Given the description of an element on the screen output the (x, y) to click on. 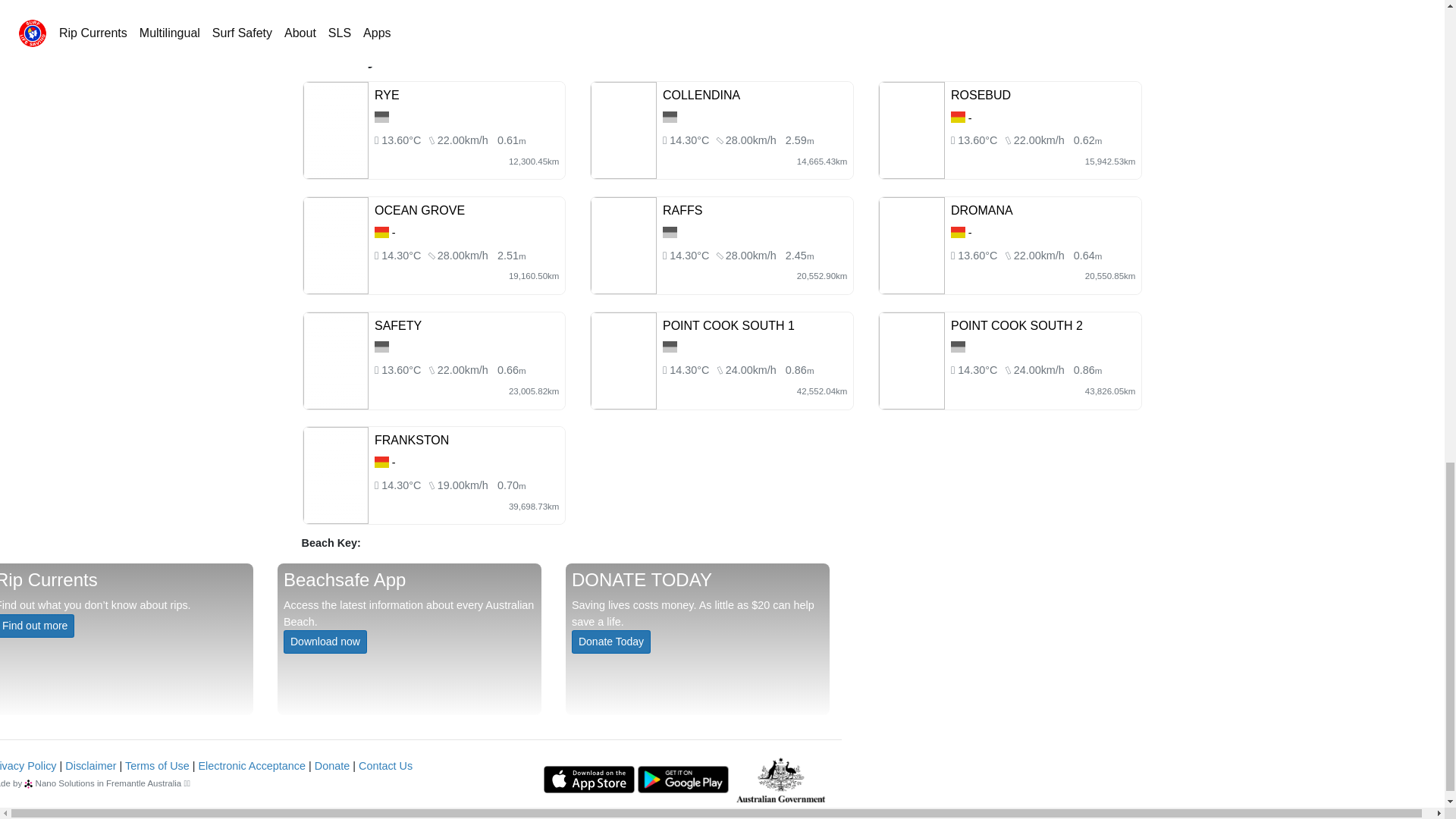
Swell (799, 140)
Swell (511, 140)
Sunny. (689, 255)
Sunny. (978, 140)
Wind Speed (462, 140)
Sunny. (401, 255)
Find out more (37, 626)
Sunny. (689, 140)
Contact Us (385, 766)
Disclaimer (90, 766)
